Given the description of an element on the screen output the (x, y) to click on. 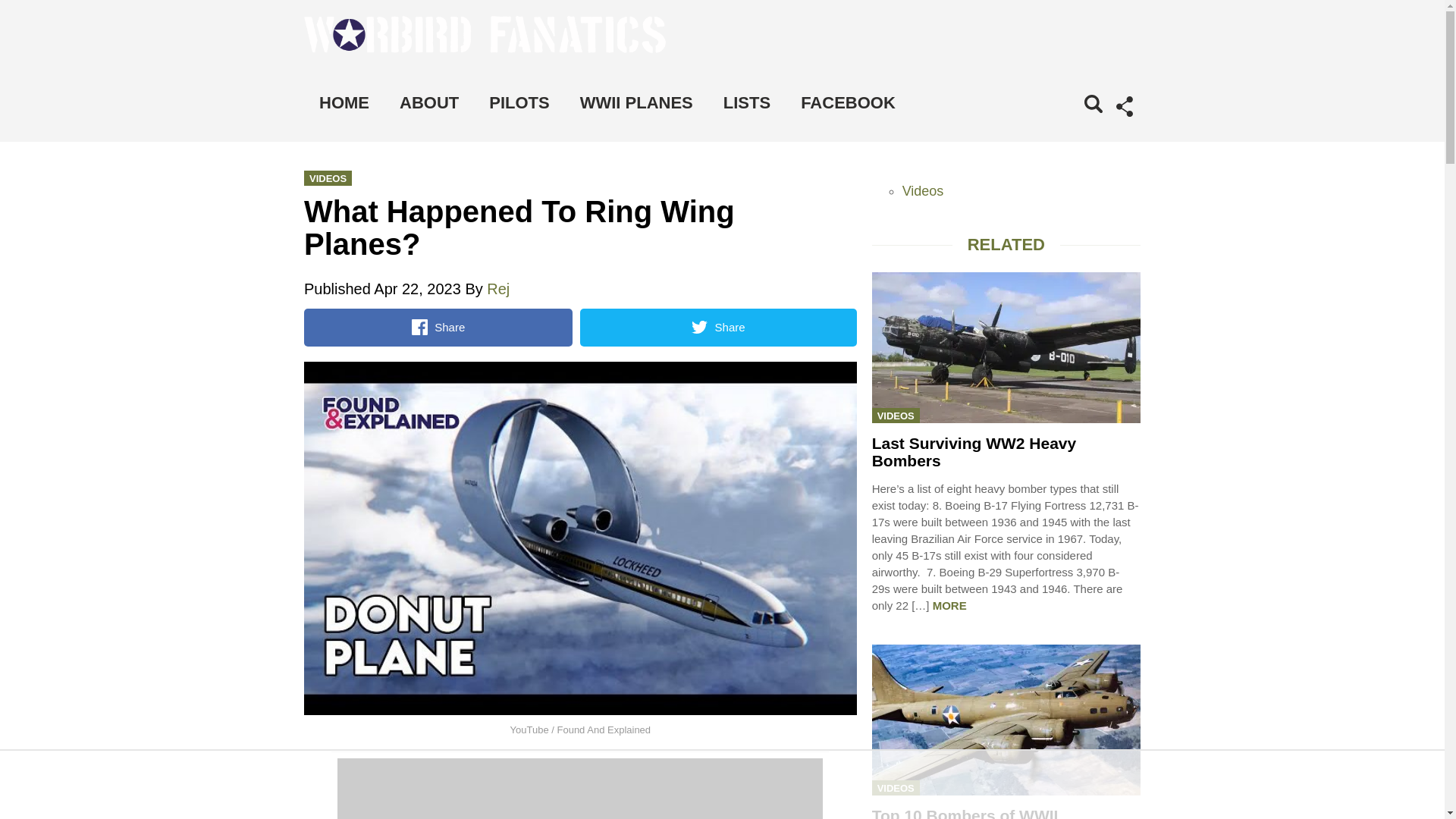
Search (1071, 124)
LISTS (746, 102)
MORE (949, 604)
VIDEOS (896, 415)
WWII PLANES (635, 102)
VIDEOS (896, 787)
Share (438, 327)
VIDEOS (328, 177)
Search (1071, 124)
HOME (344, 102)
FACEBOOK (848, 102)
ABOUT (429, 102)
Rej (497, 288)
Last Surviving WW2 Heavy Bombers (974, 451)
